Given the description of an element on the screen output the (x, y) to click on. 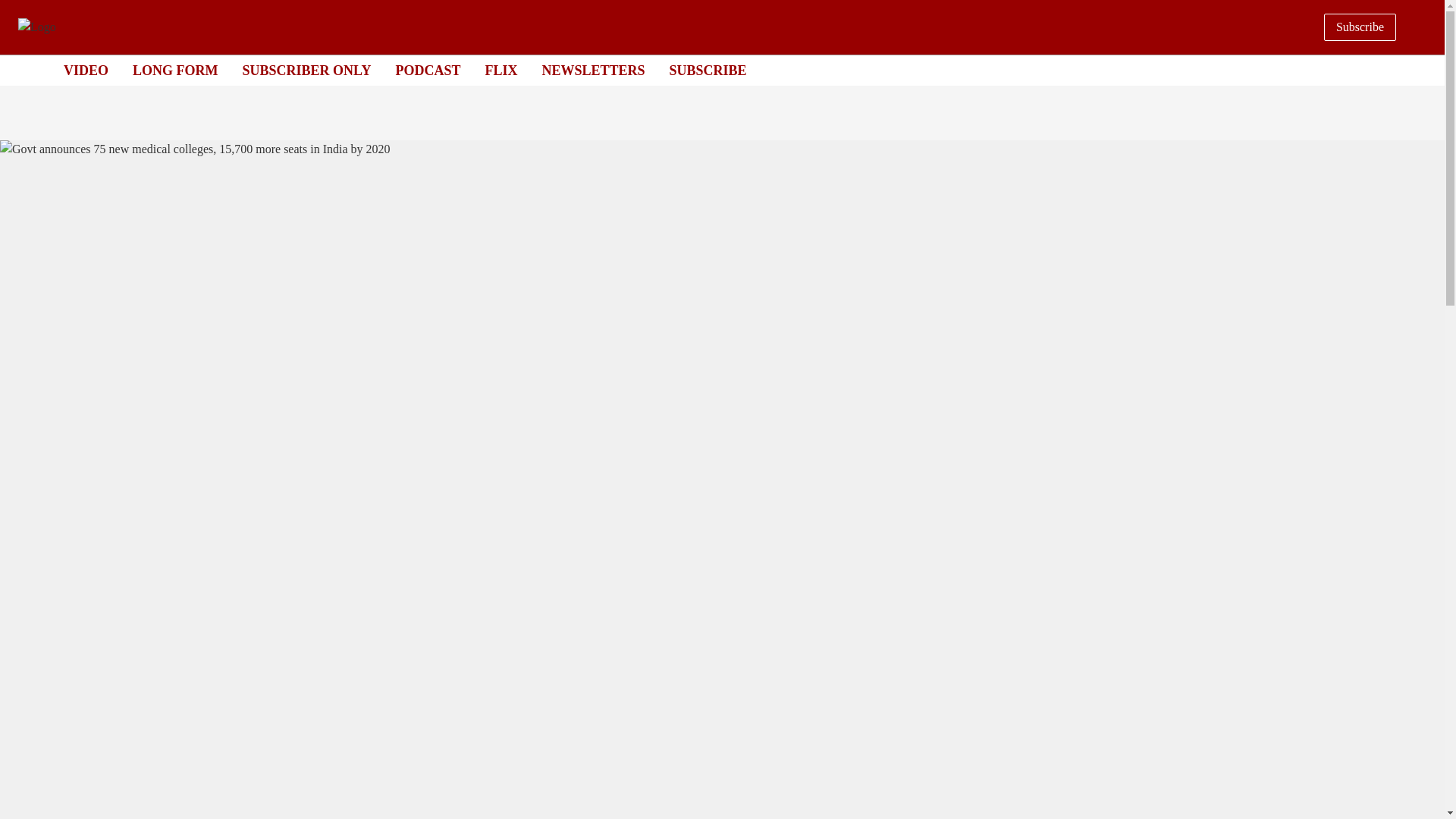
SUBSCRIBE (707, 70)
PODCAST (427, 70)
VIDEO (85, 70)
SUBSCRIBER ONLY (307, 70)
LONG FORM (175, 70)
NEWSLETTERS (593, 70)
FLIX (500, 70)
